Given the description of an element on the screen output the (x, y) to click on. 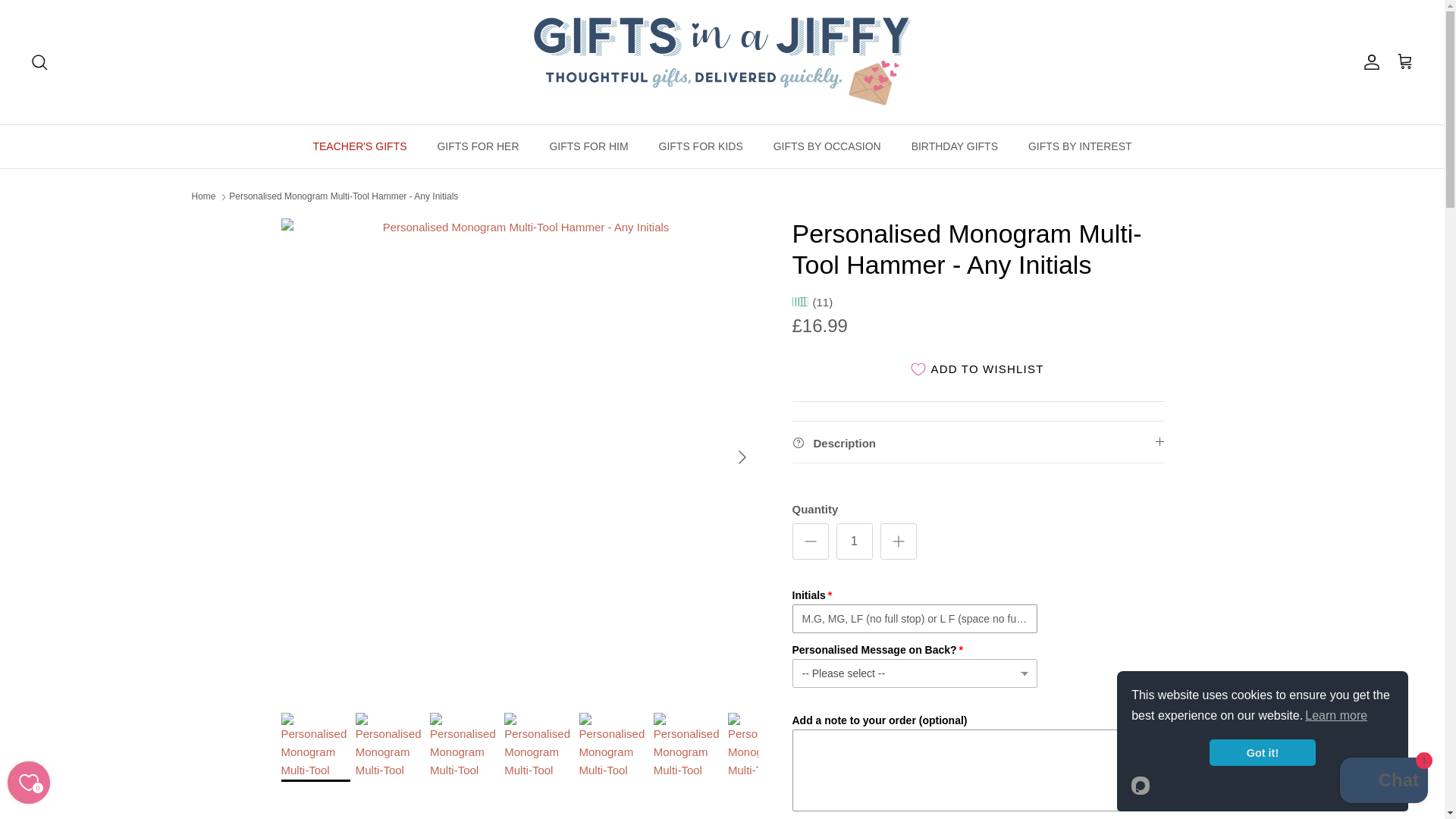
GIFTS FOR HIM (588, 145)
Minus (809, 541)
RIGHT (741, 457)
Plus (897, 541)
Shopify online store chat (1383, 781)
TEACHER'S GIFTS (359, 145)
1 (853, 541)
Search (39, 62)
GIFTS FOR HER (477, 145)
Cart (1404, 62)
GIFTS BY OCCASION (827, 145)
Account (1368, 62)
GiftsInAJiffy (721, 61)
GIFTS FOR KIDS (700, 145)
